Given the description of an element on the screen output the (x, y) to click on. 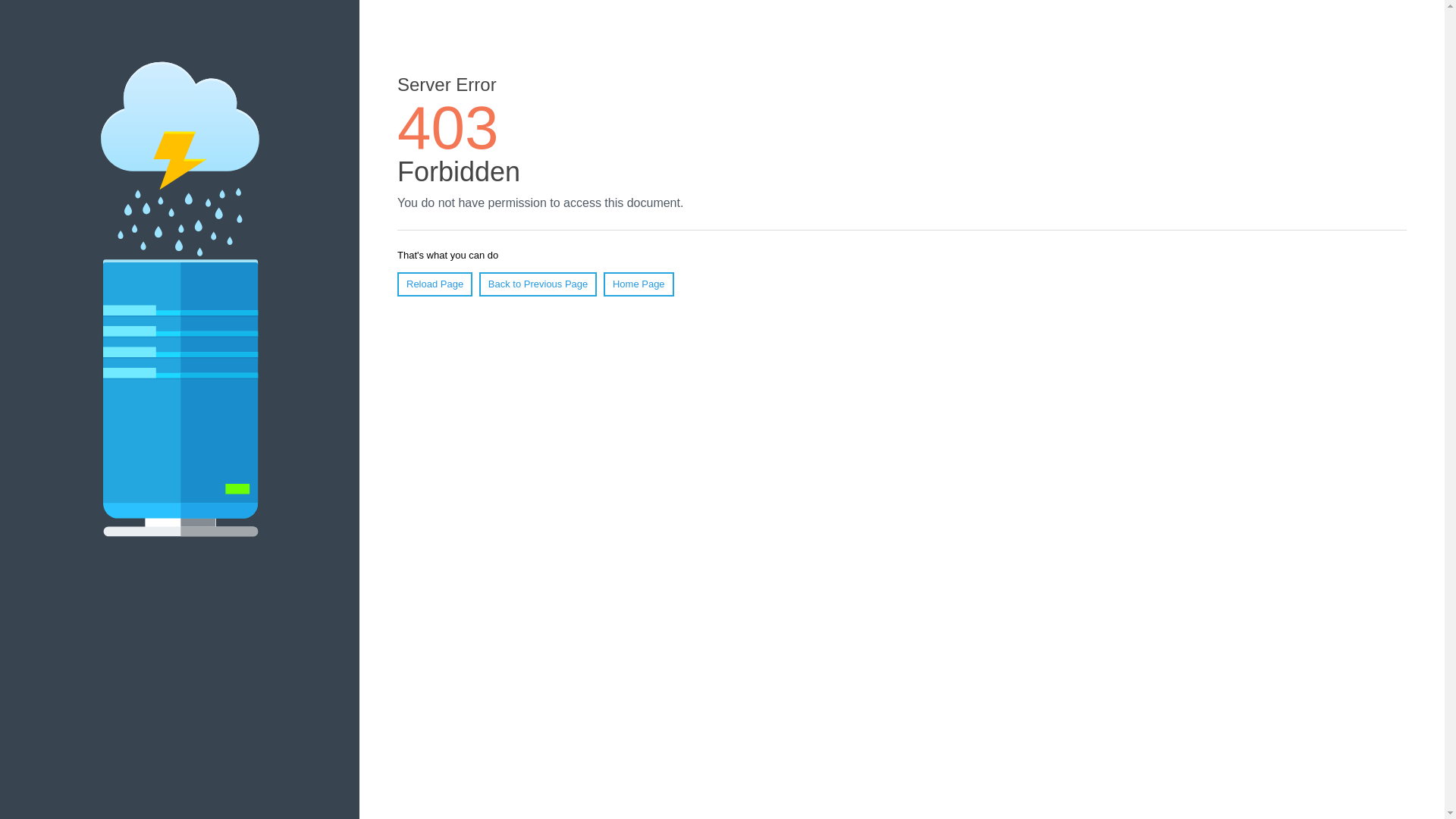
Home Page (639, 283)
Back to Previous Page (537, 283)
Reload Page (434, 283)
